Given the description of an element on the screen output the (x, y) to click on. 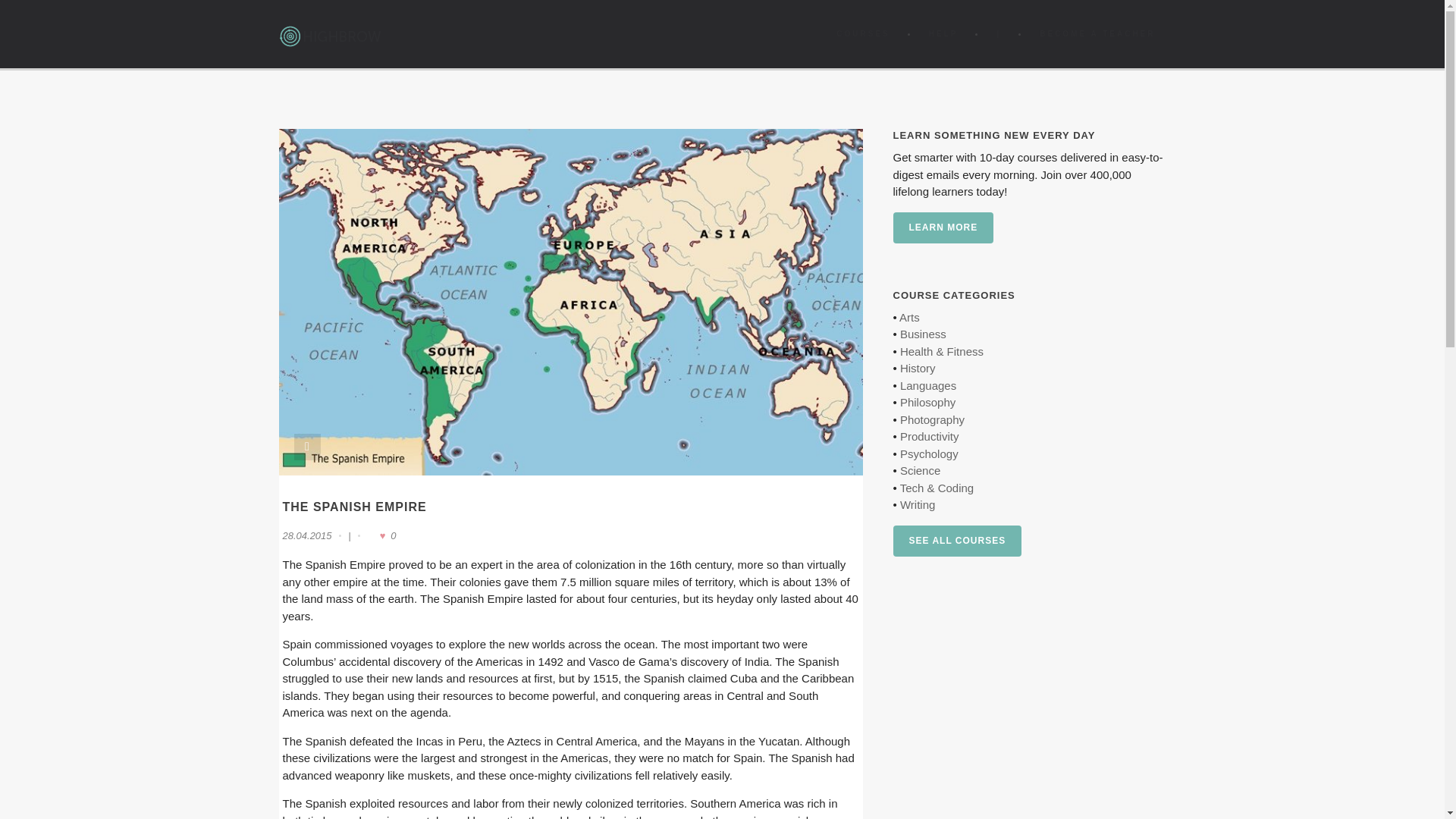
LEARN MORE (943, 227)
Science (919, 470)
Arts (909, 317)
Like this (381, 536)
SEE ALL COURSES (957, 540)
0 (381, 536)
Photography (931, 419)
Philosophy (927, 401)
Languages (927, 385)
COURSES (862, 33)
BECOME A TEACHER (1097, 33)
Business (922, 333)
Become a teacher (1097, 33)
History (917, 367)
Productivity (929, 436)
